Given the description of an element on the screen output the (x, y) to click on. 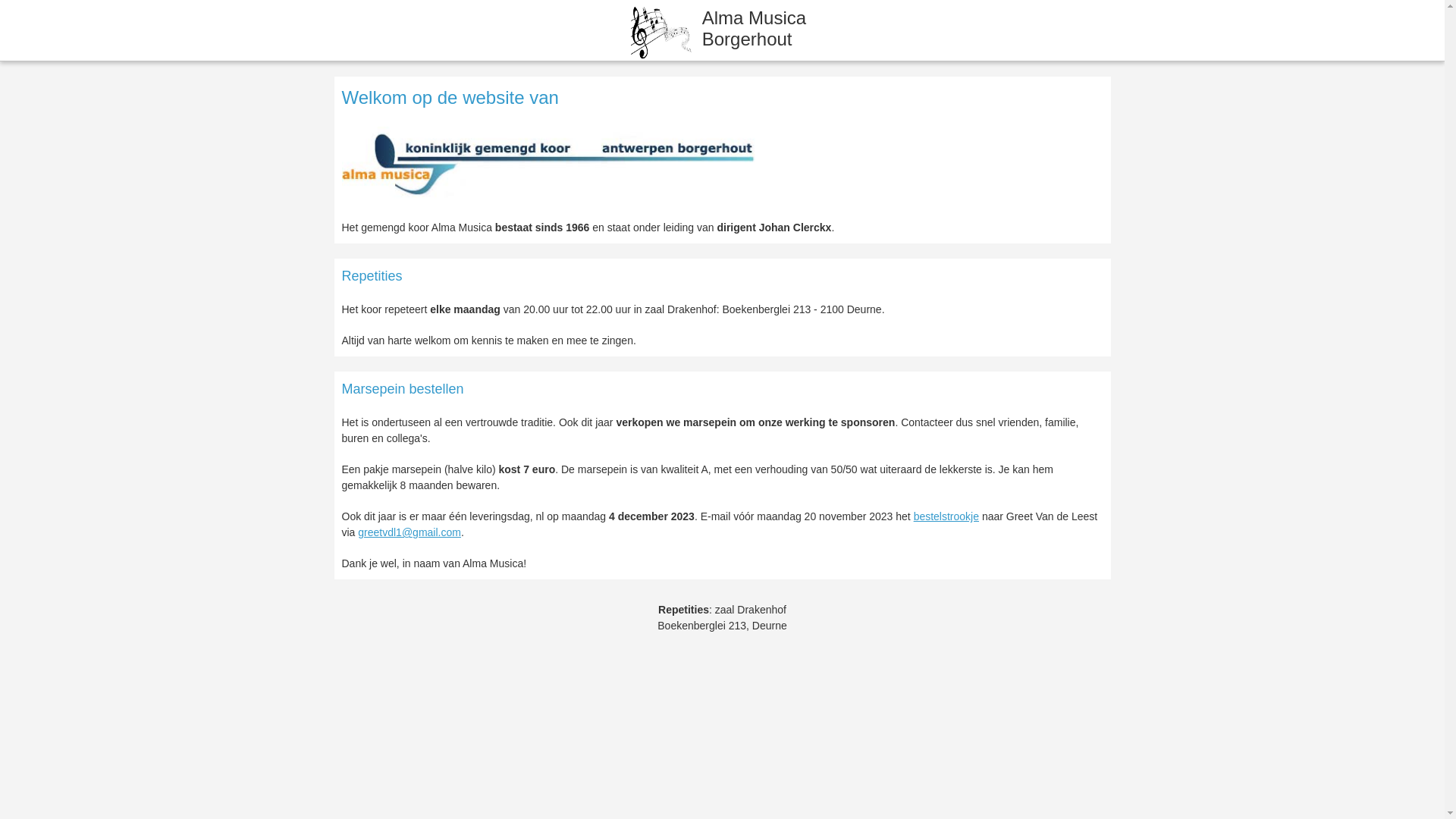
bestelstrookje Element type: text (946, 516)
greetvdl1@gmail.com Element type: text (409, 532)
